Given the description of an element on the screen output the (x, y) to click on. 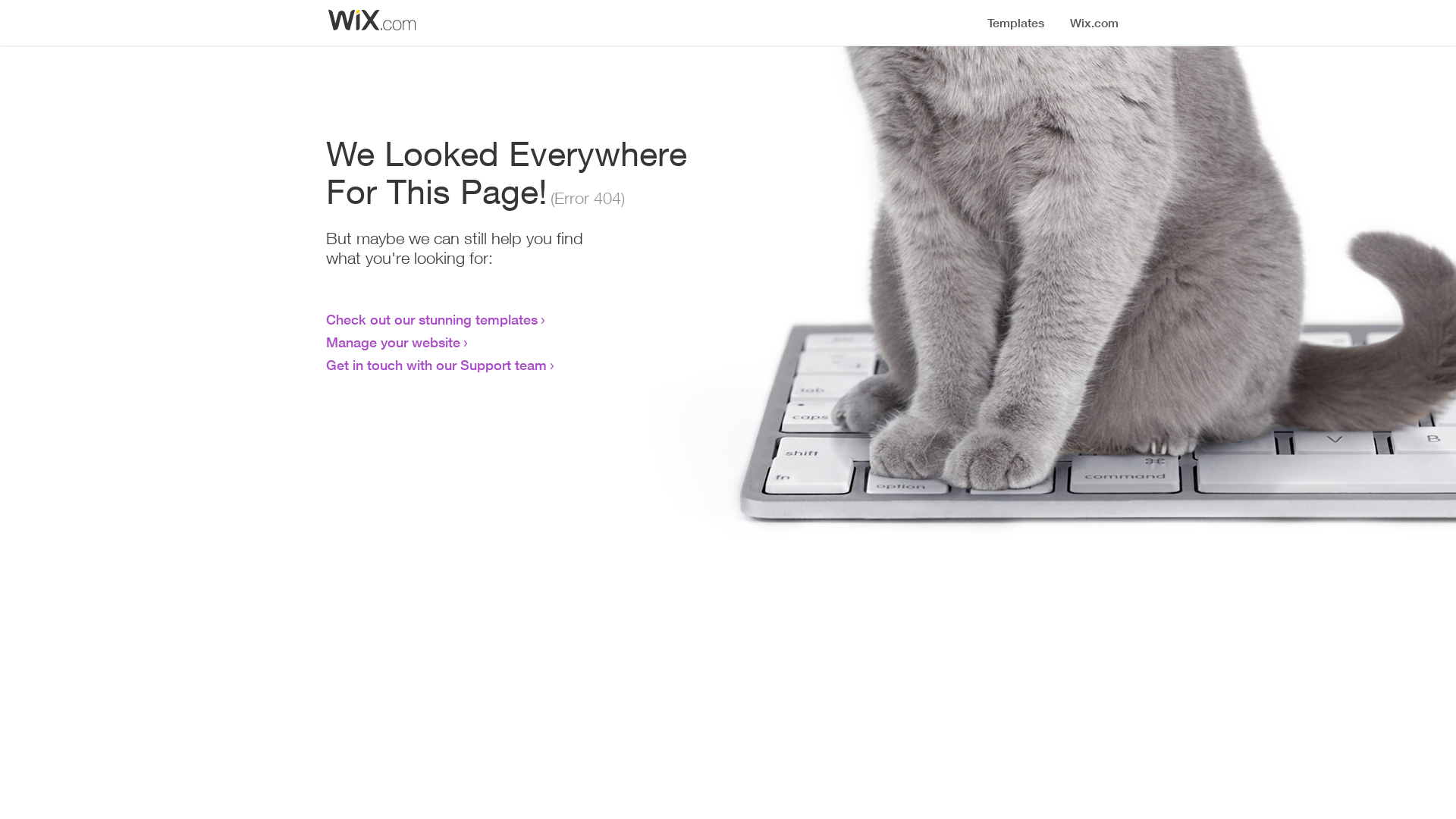
Get in touch with our Support team Element type: text (436, 364)
Manage your website Element type: text (393, 341)
Check out our stunning templates Element type: text (431, 318)
